Given the description of an element on the screen output the (x, y) to click on. 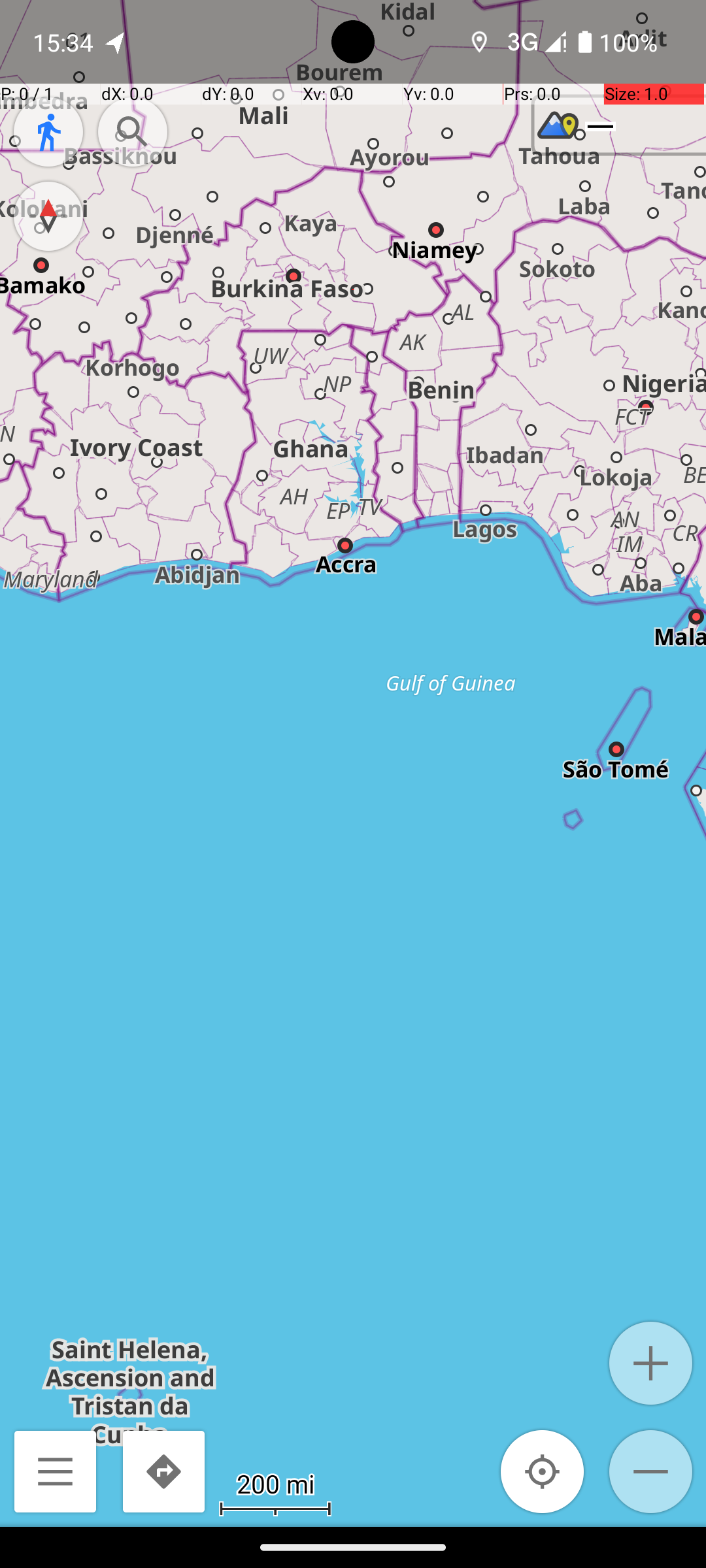
Compass direction Element type: android.widget.ImageButton (48, 216)
Altitude: current location — Element type: android.widget.LinearLayout (620, 125)
— Element type: android.widget.TextView (600, 124)
